Given the description of an element on the screen output the (x, y) to click on. 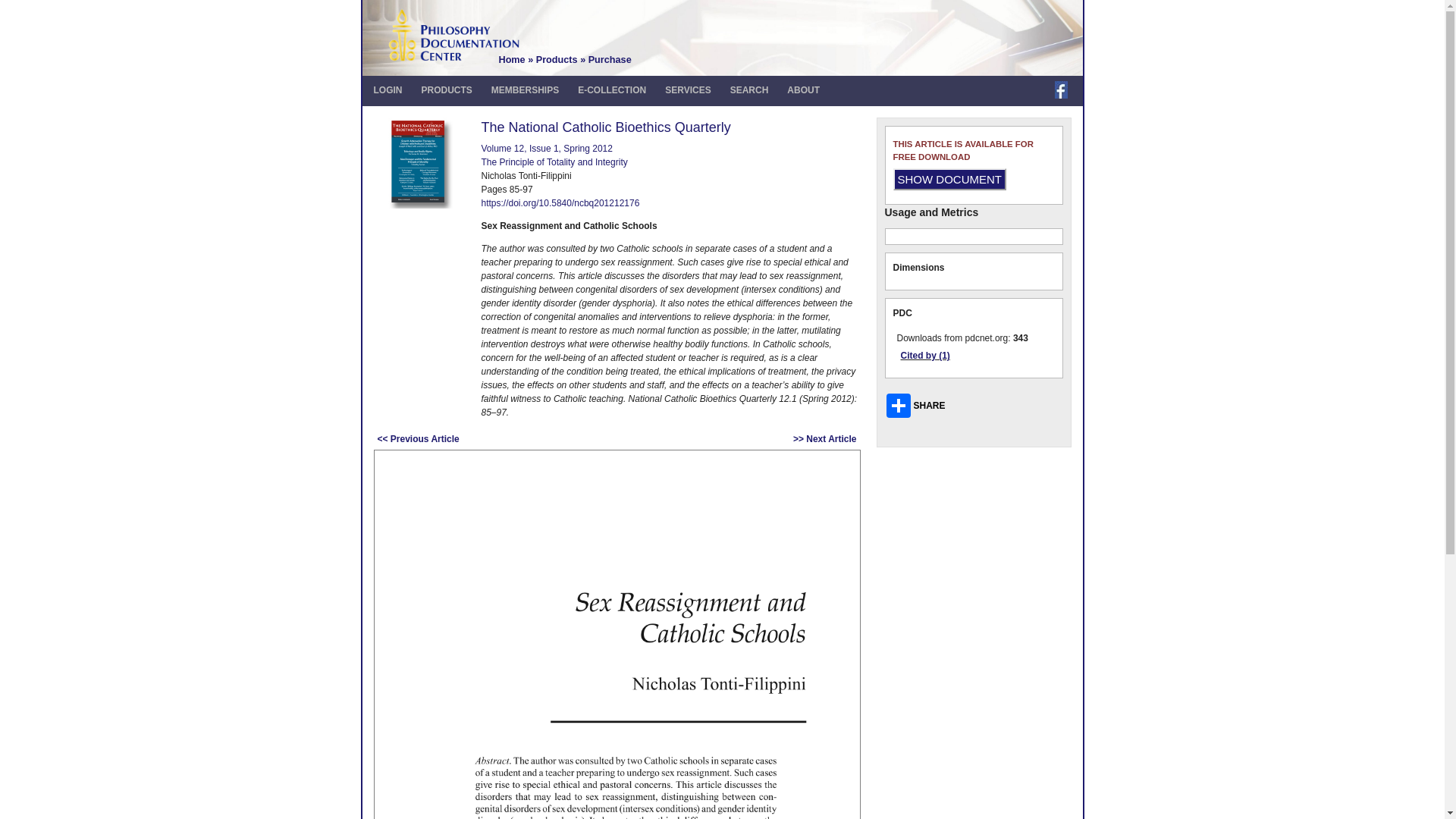
Products (556, 59)
PRODUCTS (446, 90)
MEMBERSHIPS (524, 90)
Home (512, 59)
ABOUT (802, 90)
SERVICES (687, 90)
E-COLLECTION (611, 90)
SEARCH (749, 90)
LOGIN (387, 90)
